Given the description of an element on the screen output the (x, y) to click on. 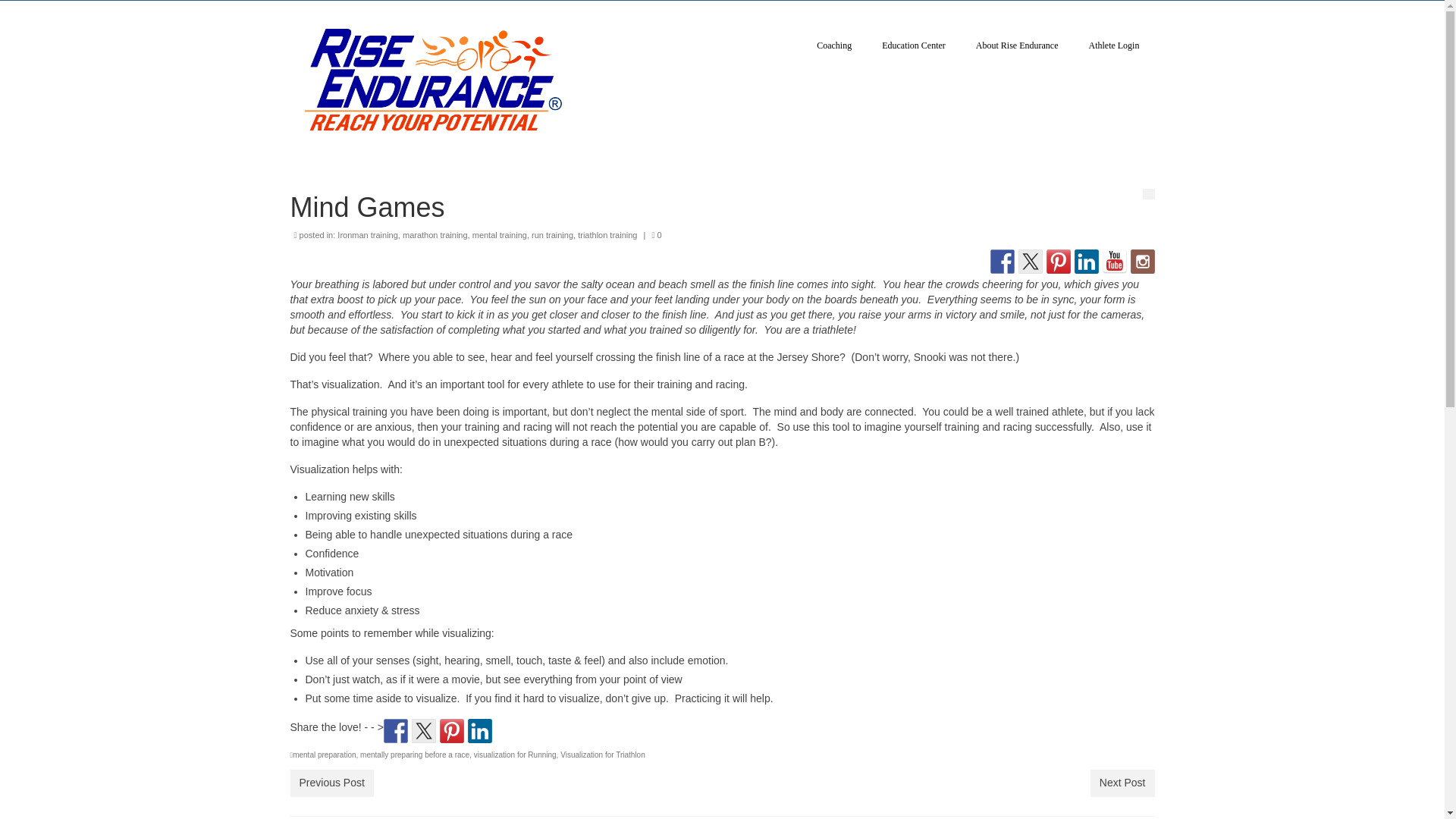
Follow us on Twitter (1029, 261)
Our board on Pinterest (1058, 261)
Education Center (913, 45)
Athlete Login (1113, 45)
triathlon training (607, 234)
Share on Facebook (395, 730)
Follow us on Facebook (1002, 261)
Coaching (834, 45)
Find us on YouTube (1114, 261)
marathon training (435, 234)
